Given the description of an element on the screen output the (x, y) to click on. 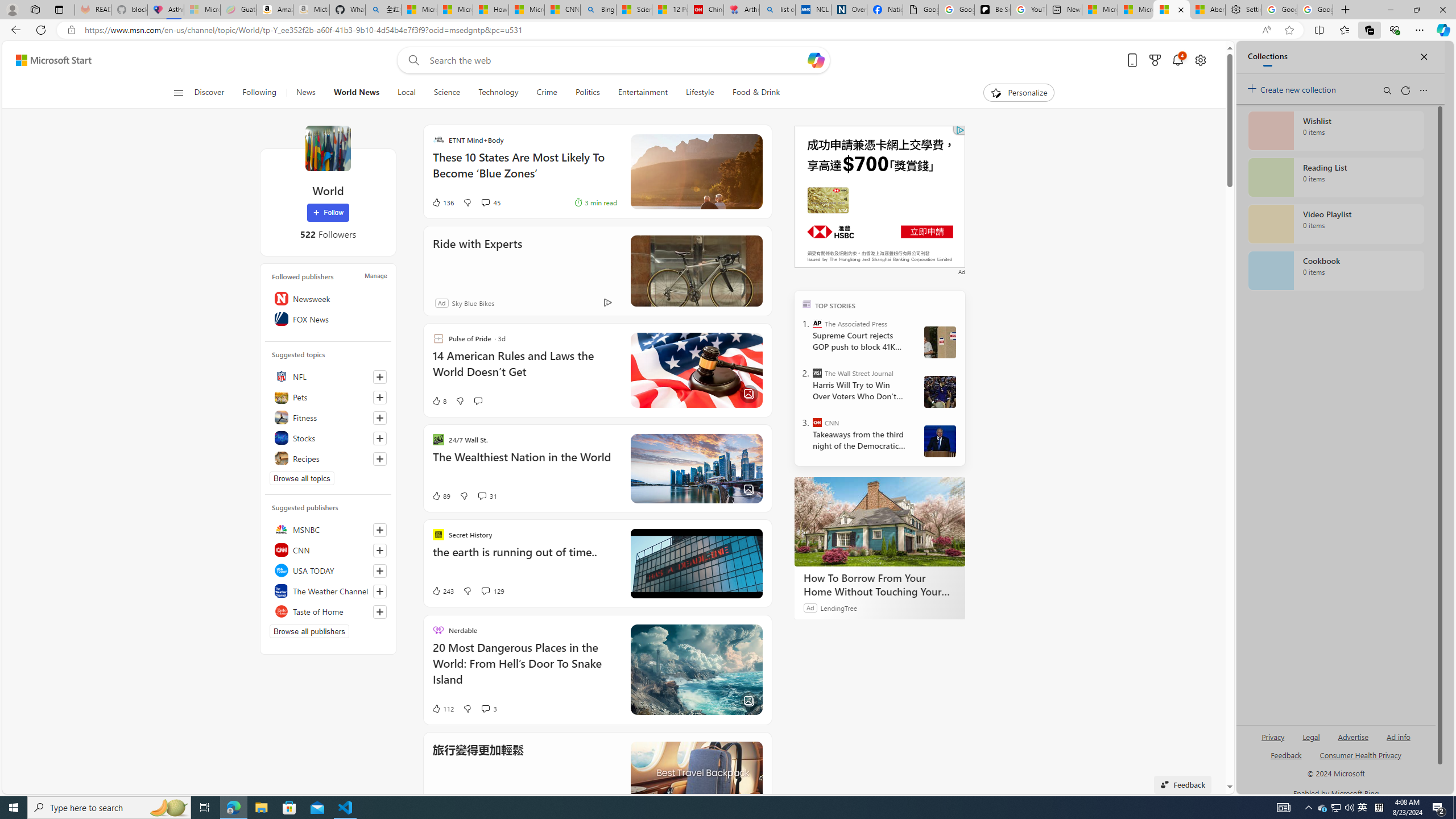
243 Like (442, 590)
8 Like (438, 400)
CNN (327, 549)
The Associated Press (816, 323)
Follow this source (379, 611)
112 Like (442, 708)
Follow (328, 212)
